Given the description of an element on the screen output the (x, y) to click on. 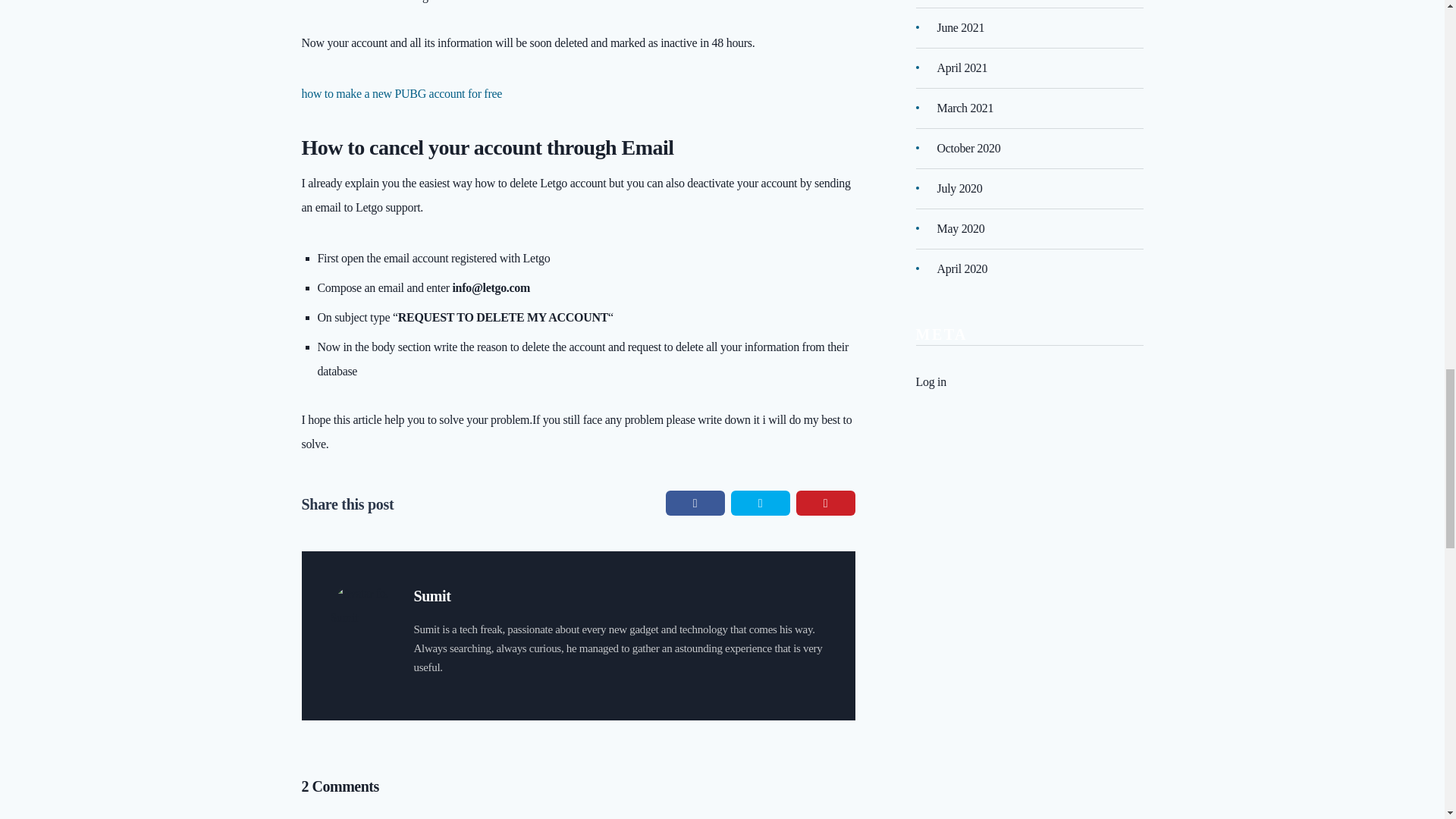
how to make a new PUBG account for free (401, 92)
Sumit (432, 596)
Gravatar for Sumit (360, 611)
How to Delete Letgo Account in a simple way 1 (390, 4)
